Given the description of an element on the screen output the (x, y) to click on. 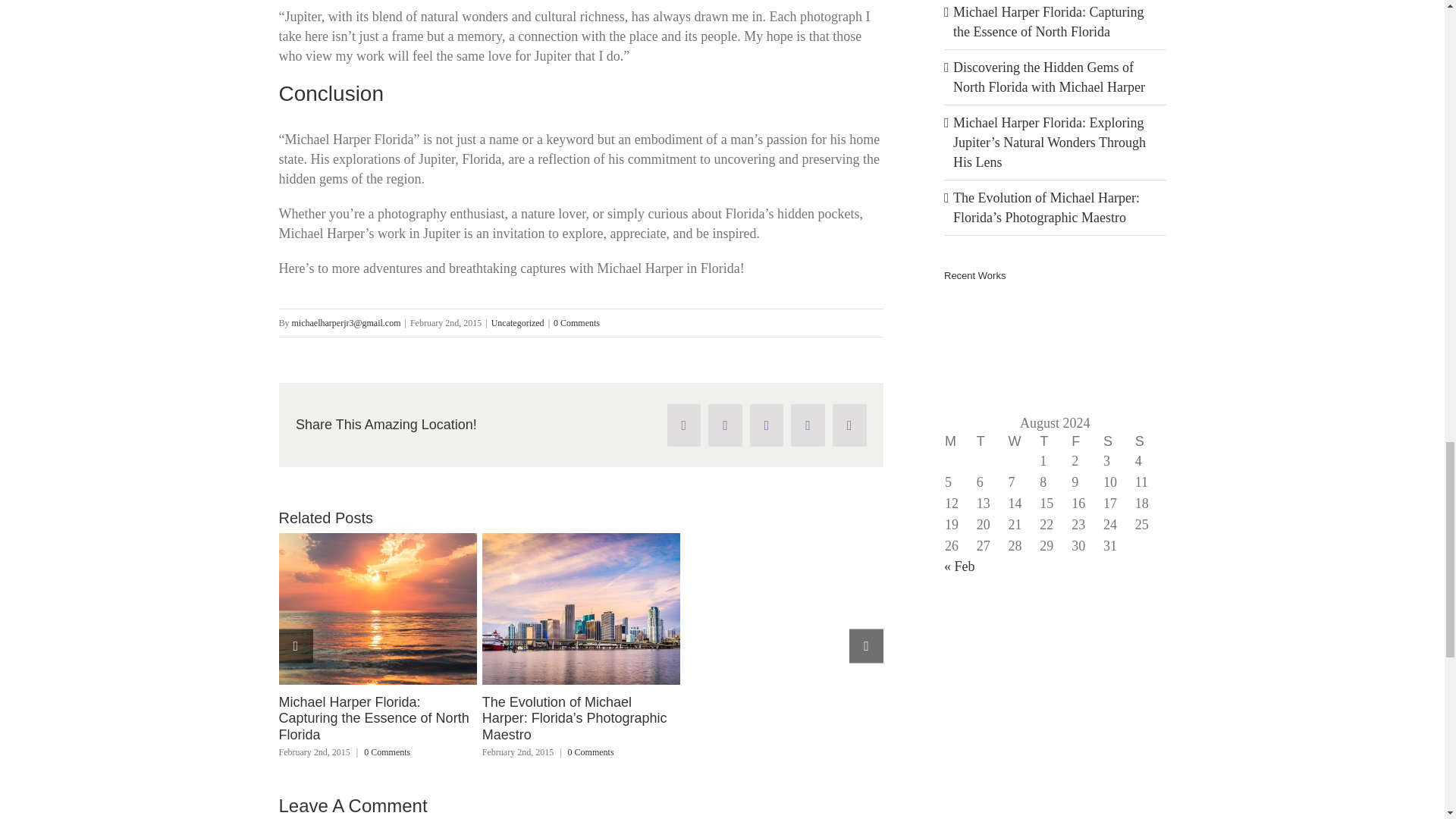
0 Comments (576, 322)
Canada (1137, 315)
Argentina (1024, 315)
0 Comments (387, 751)
Uncategorized (518, 322)
Southern Italy (1081, 315)
Australia (969, 315)
0 Comments (590, 751)
